Given the description of an element on the screen output the (x, y) to click on. 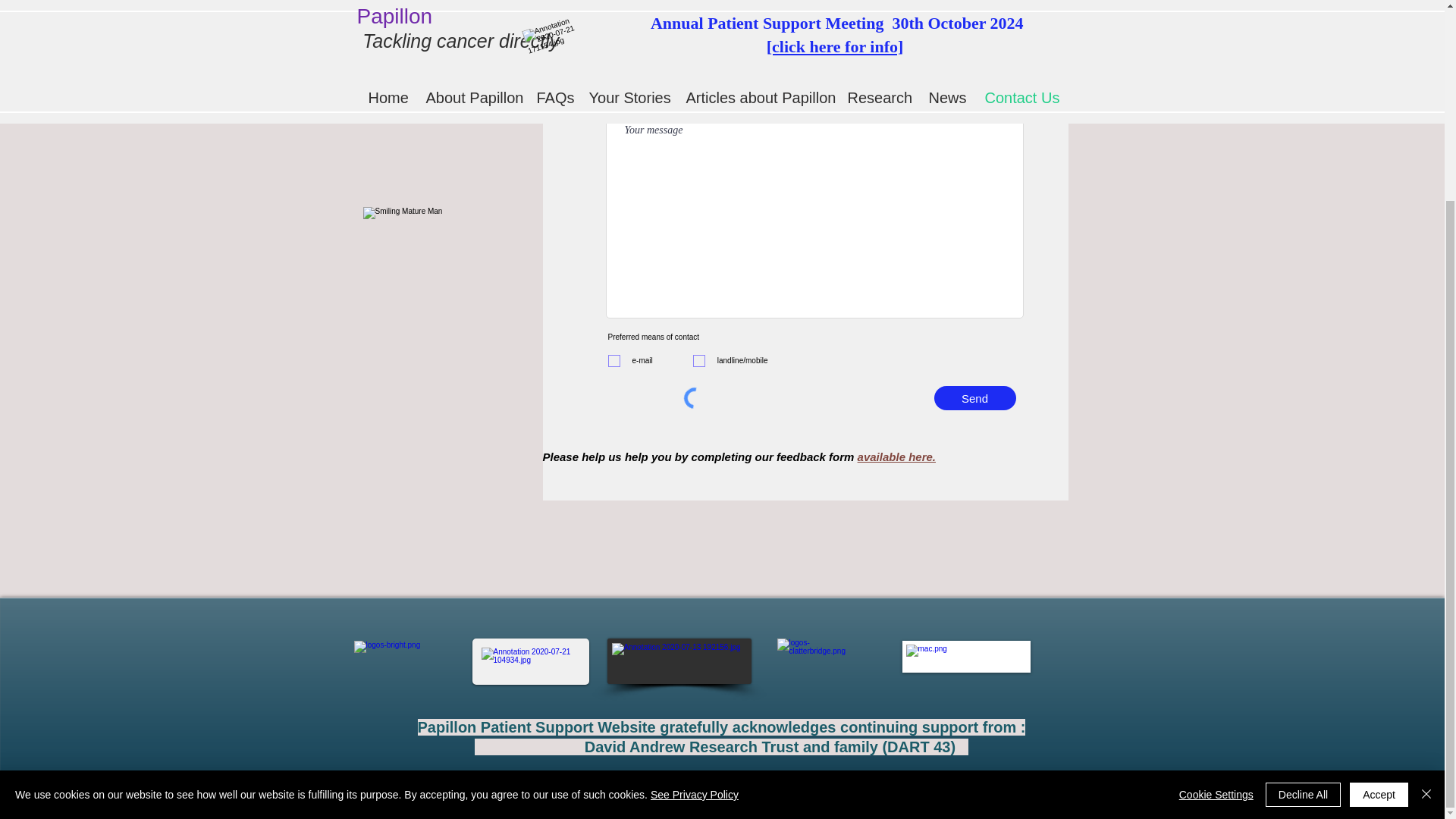
See Privacy Policy (694, 538)
Accept (1378, 538)
Decline All (1302, 538)
Send (975, 397)
available here. (896, 456)
